Given the description of an element on the screen output the (x, y) to click on. 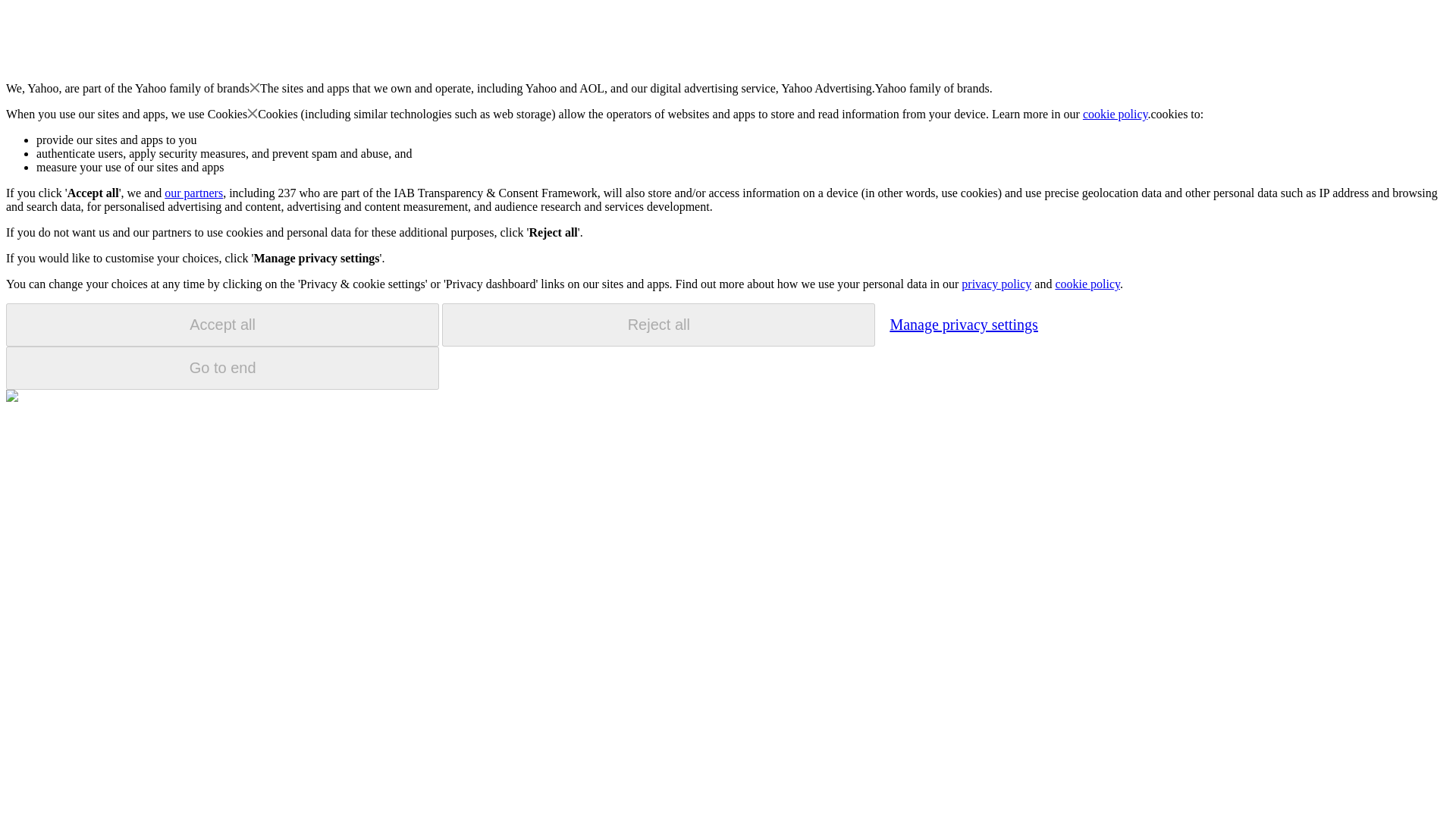
privacy policy (995, 283)
our partners (193, 192)
Reject all (658, 324)
Manage privacy settings (963, 323)
Accept all (222, 324)
cookie policy (1086, 283)
cookie policy (1115, 113)
Go to end (222, 367)
